Given the description of an element on the screen output the (x, y) to click on. 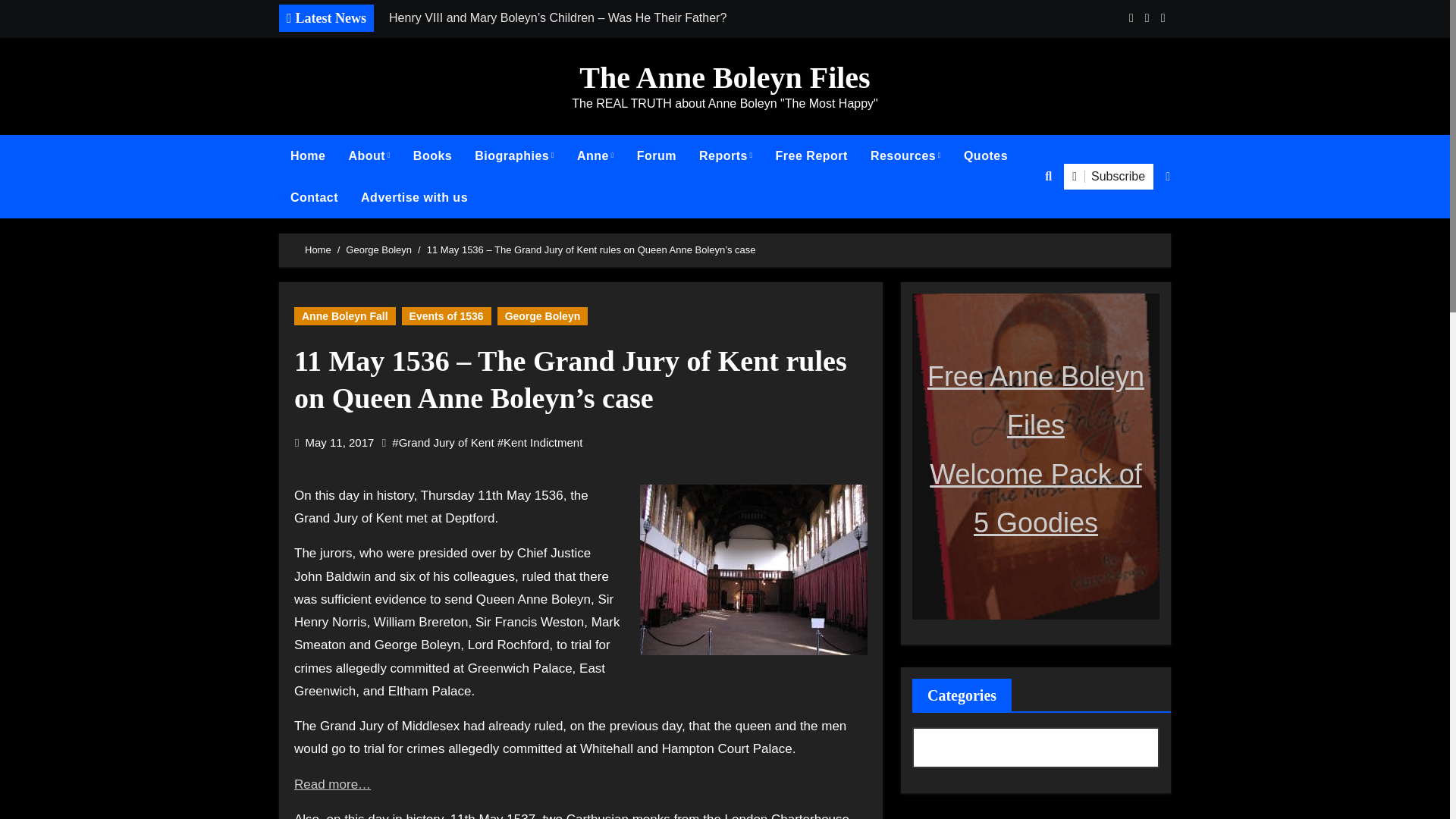
Books (432, 155)
Biographies (514, 155)
The Anne Boleyn Files (724, 77)
Biographies (514, 155)
Books (432, 155)
About (368, 155)
About (368, 155)
Home (307, 155)
Home (307, 155)
